Given the description of an element on the screen output the (x, y) to click on. 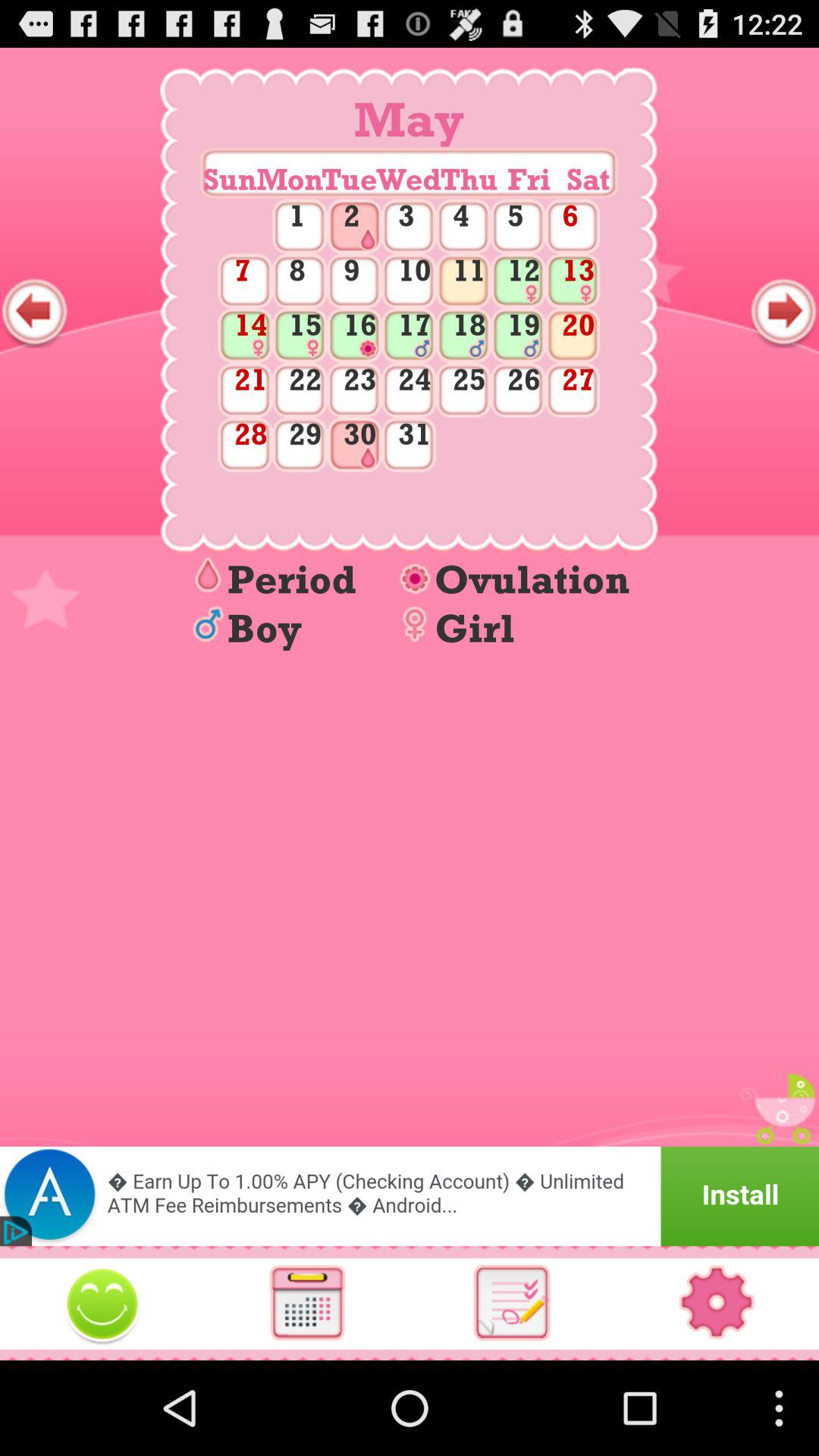
go to calendar (306, 1302)
